Given the description of an element on the screen output the (x, y) to click on. 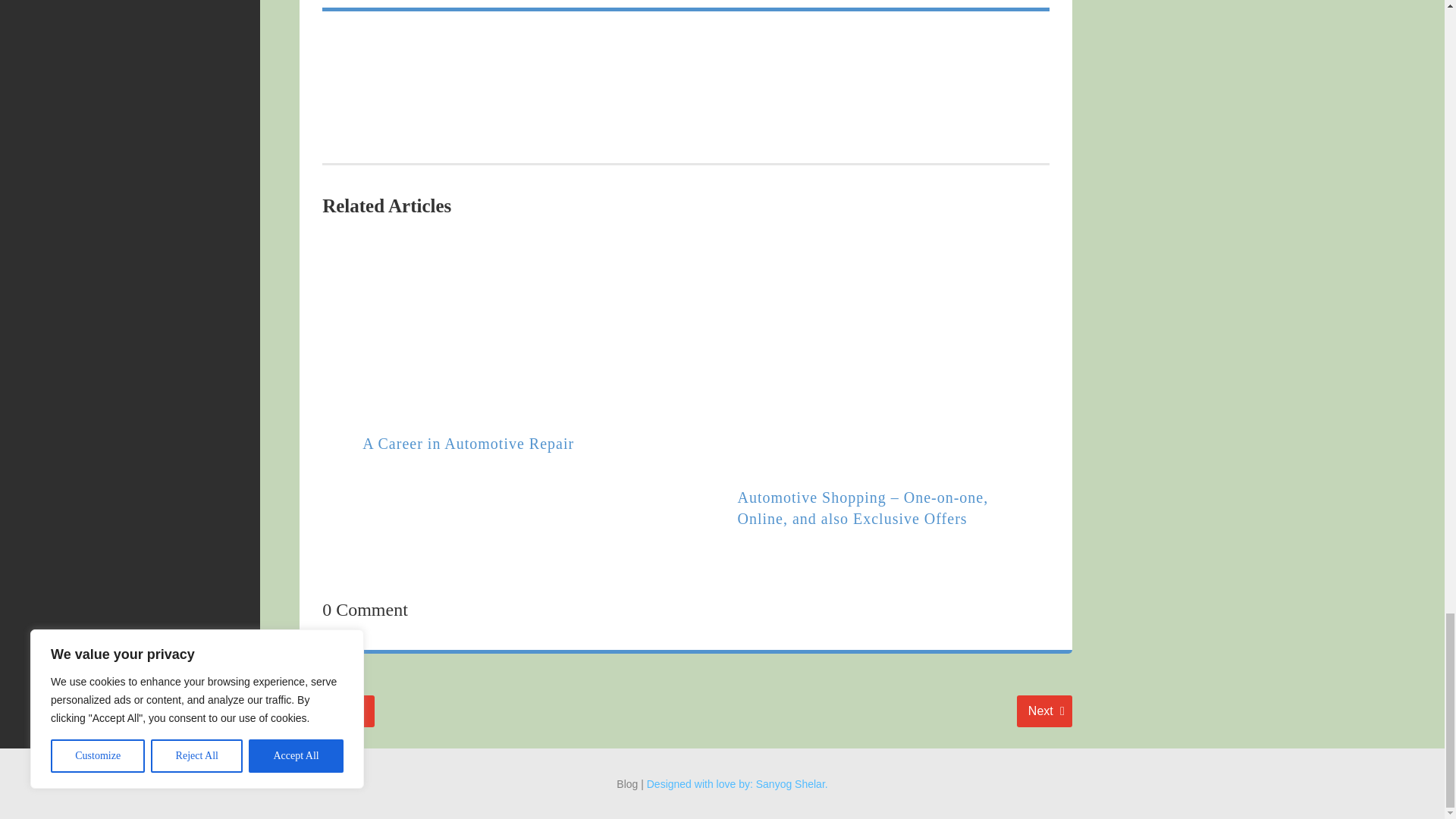
A Career in Automotive Repair (1043, 711)
